Given the description of an element on the screen output the (x, y) to click on. 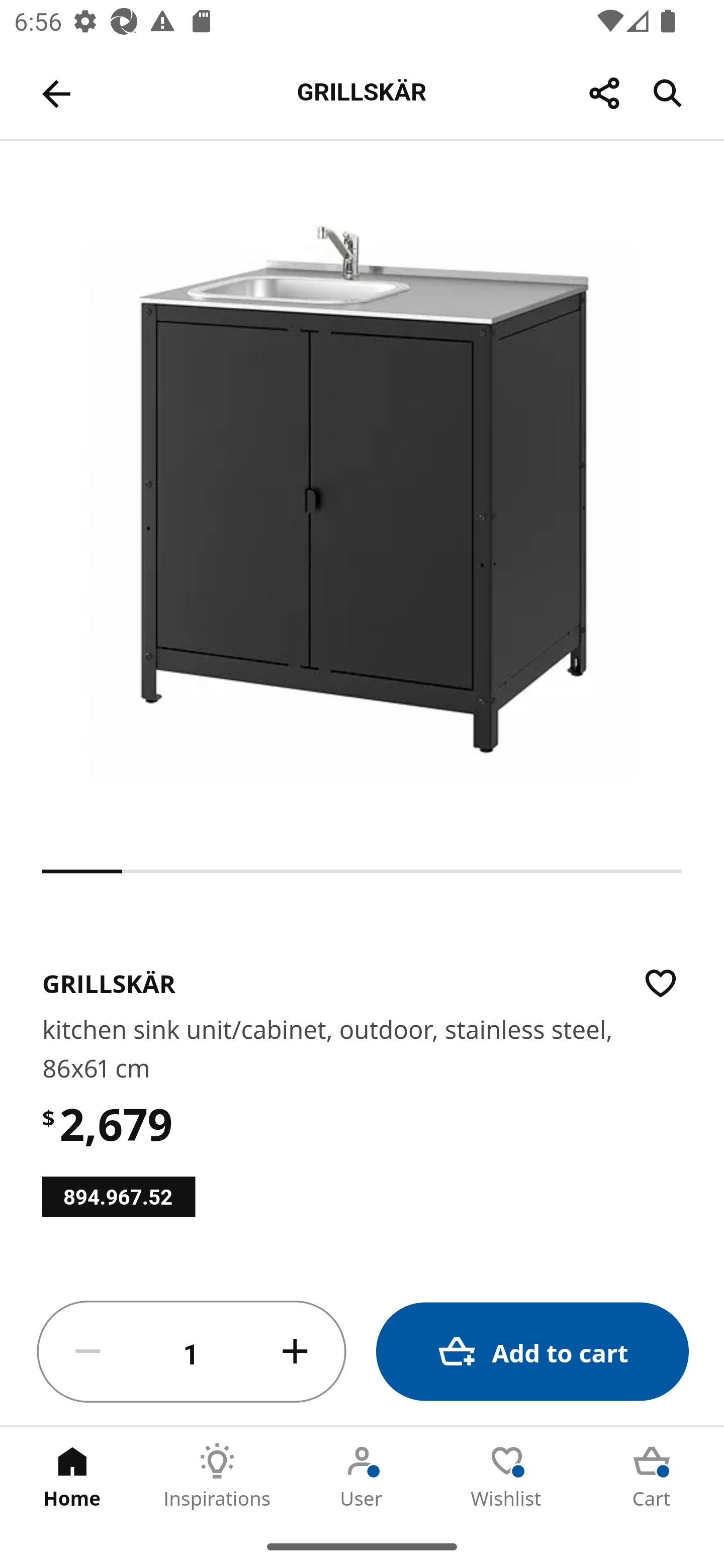
Add to cart (531, 1352)
1 (191, 1352)
Home
Tab 1 of 5 (72, 1476)
Inspirations
Tab 2 of 5 (216, 1476)
User
Tab 3 of 5 (361, 1476)
Wishlist
Tab 4 of 5 (506, 1476)
Cart
Tab 5 of 5 (651, 1476)
